Given the description of an element on the screen output the (x, y) to click on. 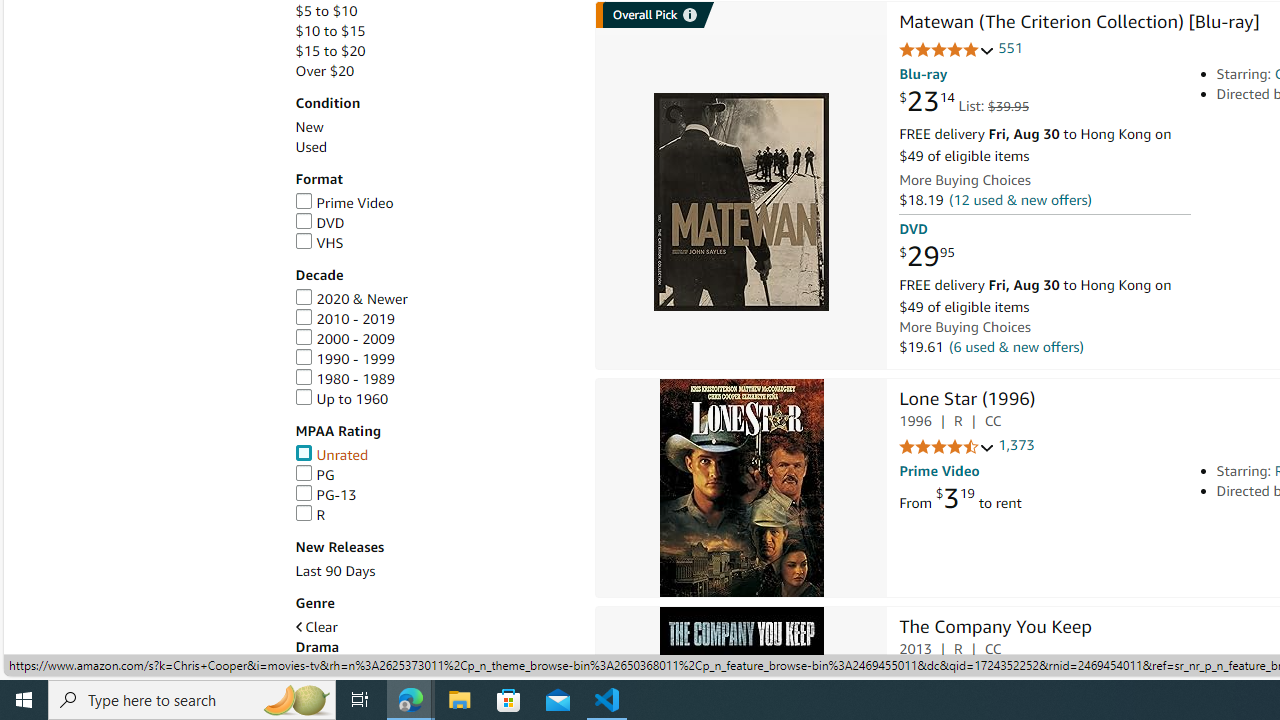
Matewan (The Criterion Collection) [Blu-ray] (1078, 23)
Last 90 Days (434, 571)
$5 to $10 (326, 11)
Drama (317, 646)
